Given the description of an element on the screen output the (x, y) to click on. 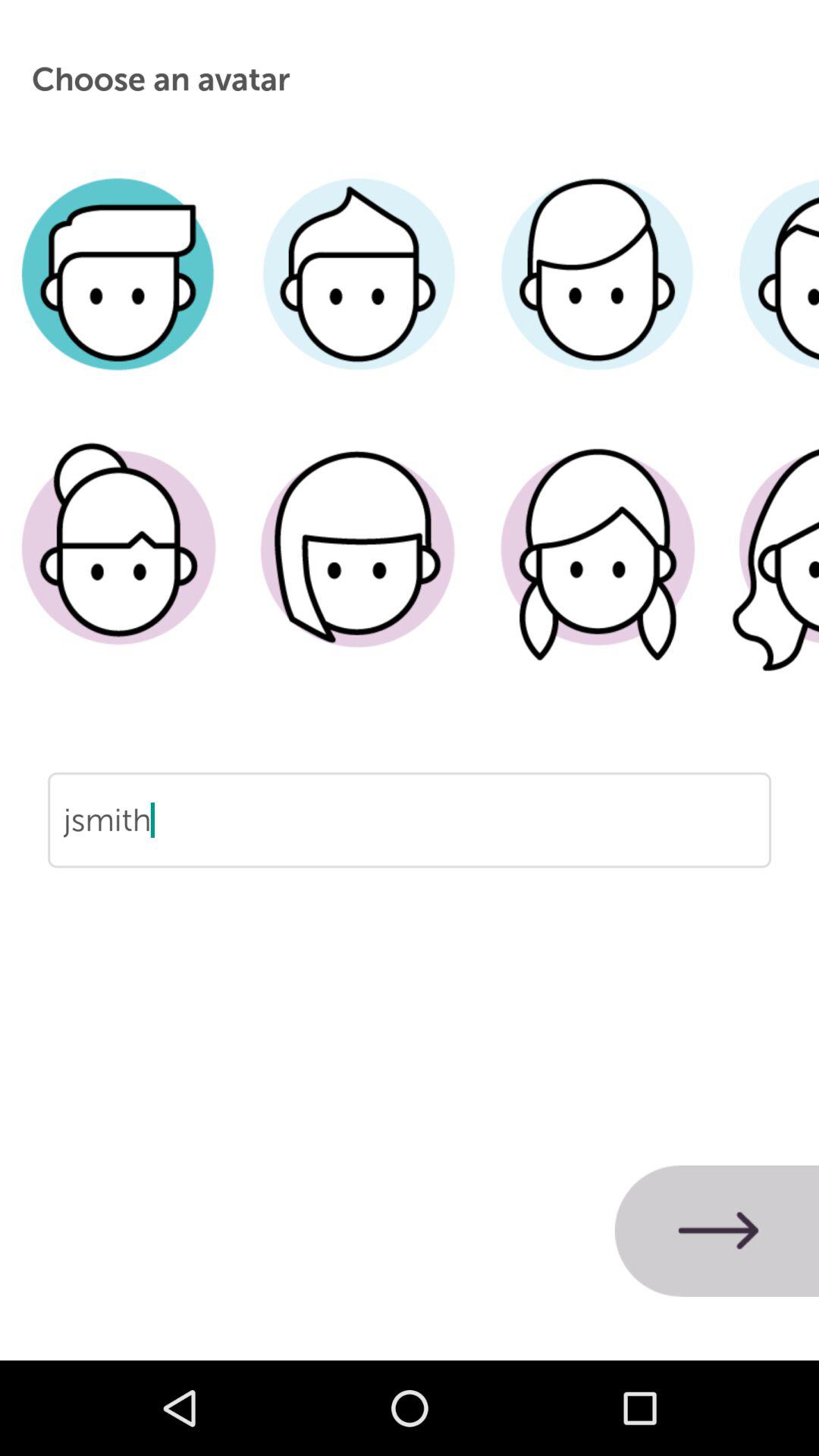
select hair style for avatar (596, 296)
